Given the description of an element on the screen output the (x, y) to click on. 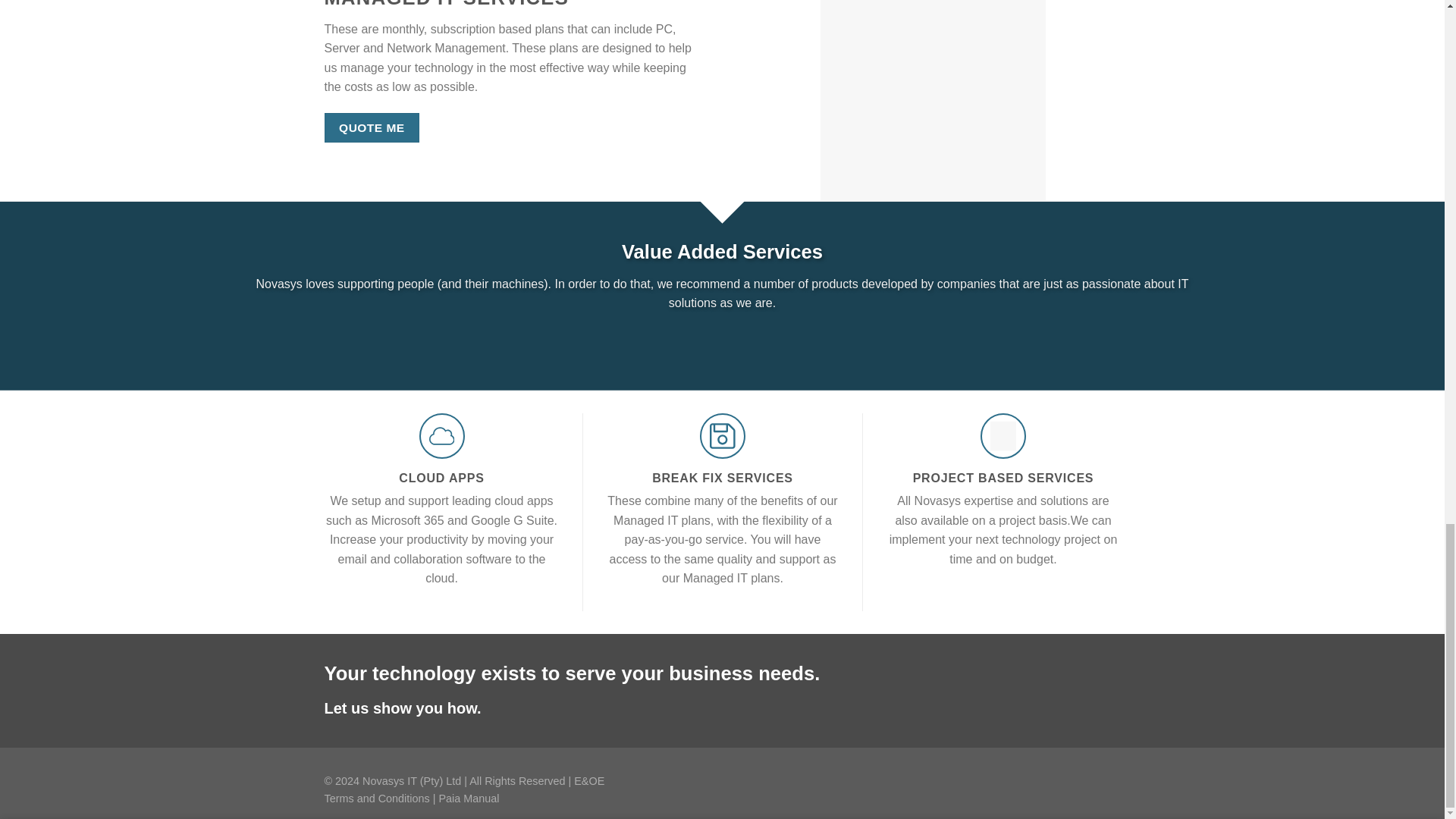
Paia Manual (468, 798)
Terms and Conditions (376, 798)
QUOTE ME (372, 127)
